Given the description of an element on the screen output the (x, y) to click on. 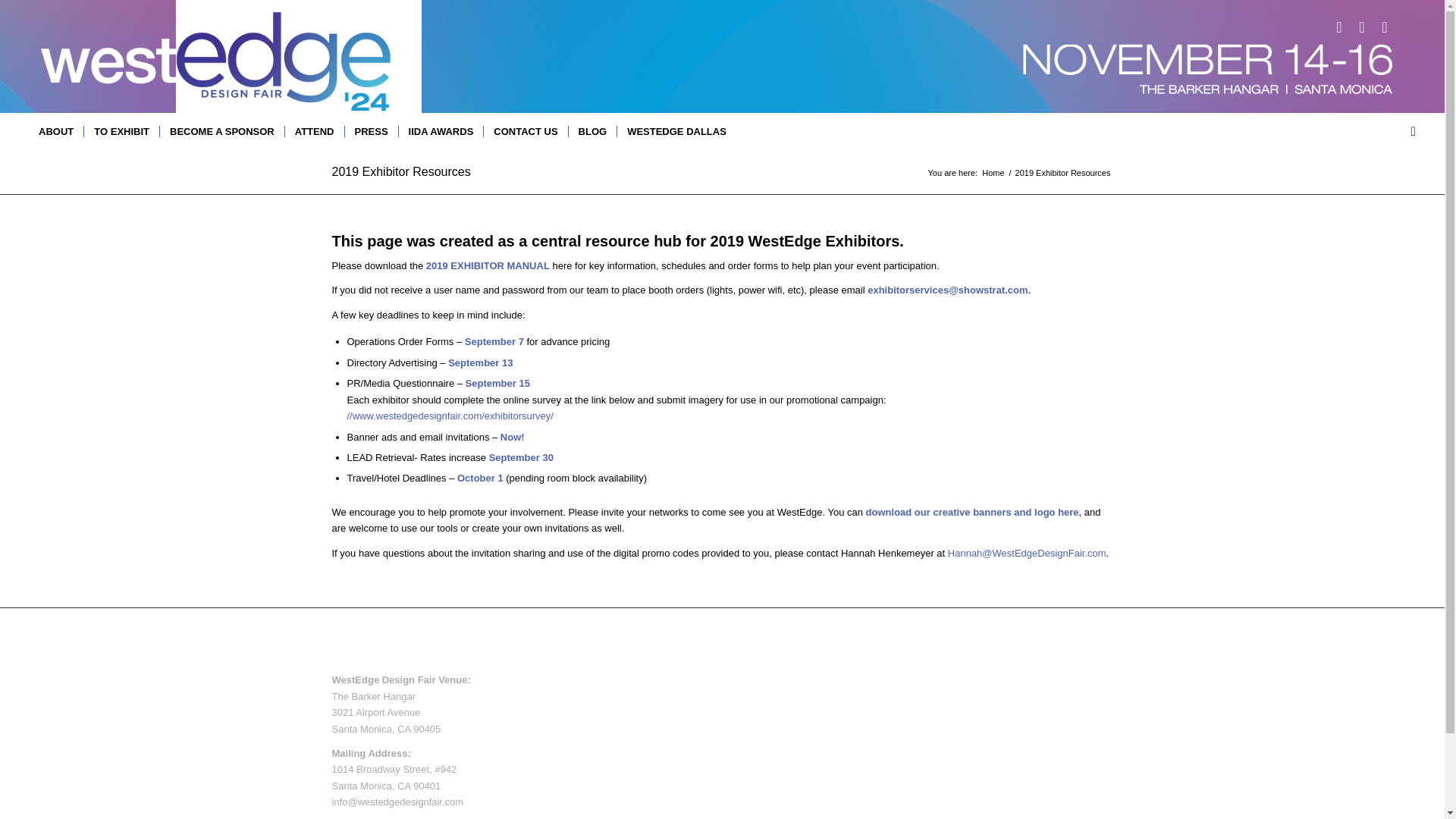
Facebook (1339, 26)
website header-banner-date-01 (1206, 67)
Permanent Link: 2019 Exhibitor Resources (400, 171)
WestEdge Design Fair (992, 172)
Youtube (1362, 26)
Instagram (1384, 26)
website header-banner-logo-01 (195, 56)
